Given the description of an element on the screen output the (x, y) to click on. 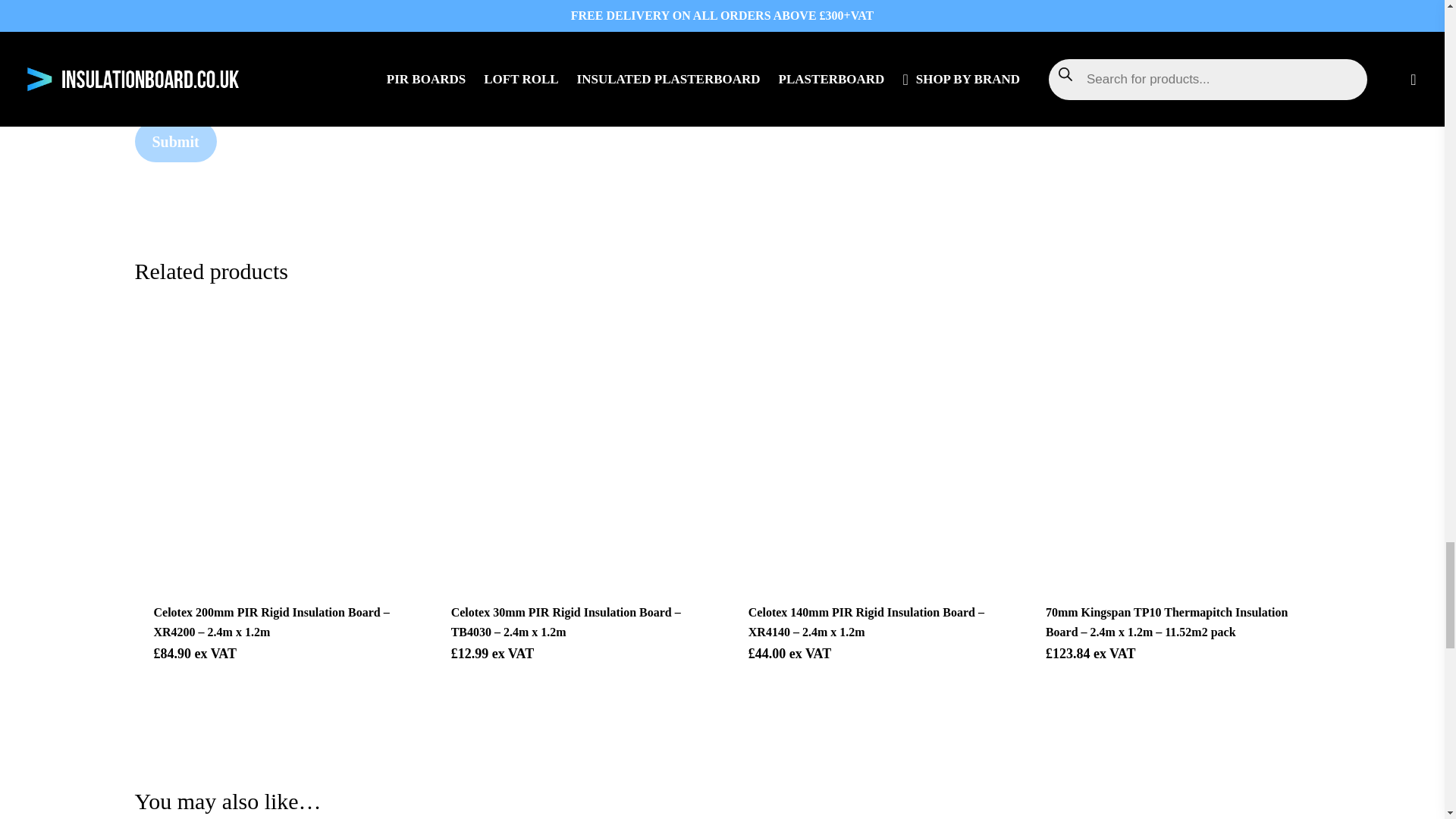
Submit (175, 141)
yes (143, 79)
